Given the description of an element on the screen output the (x, y) to click on. 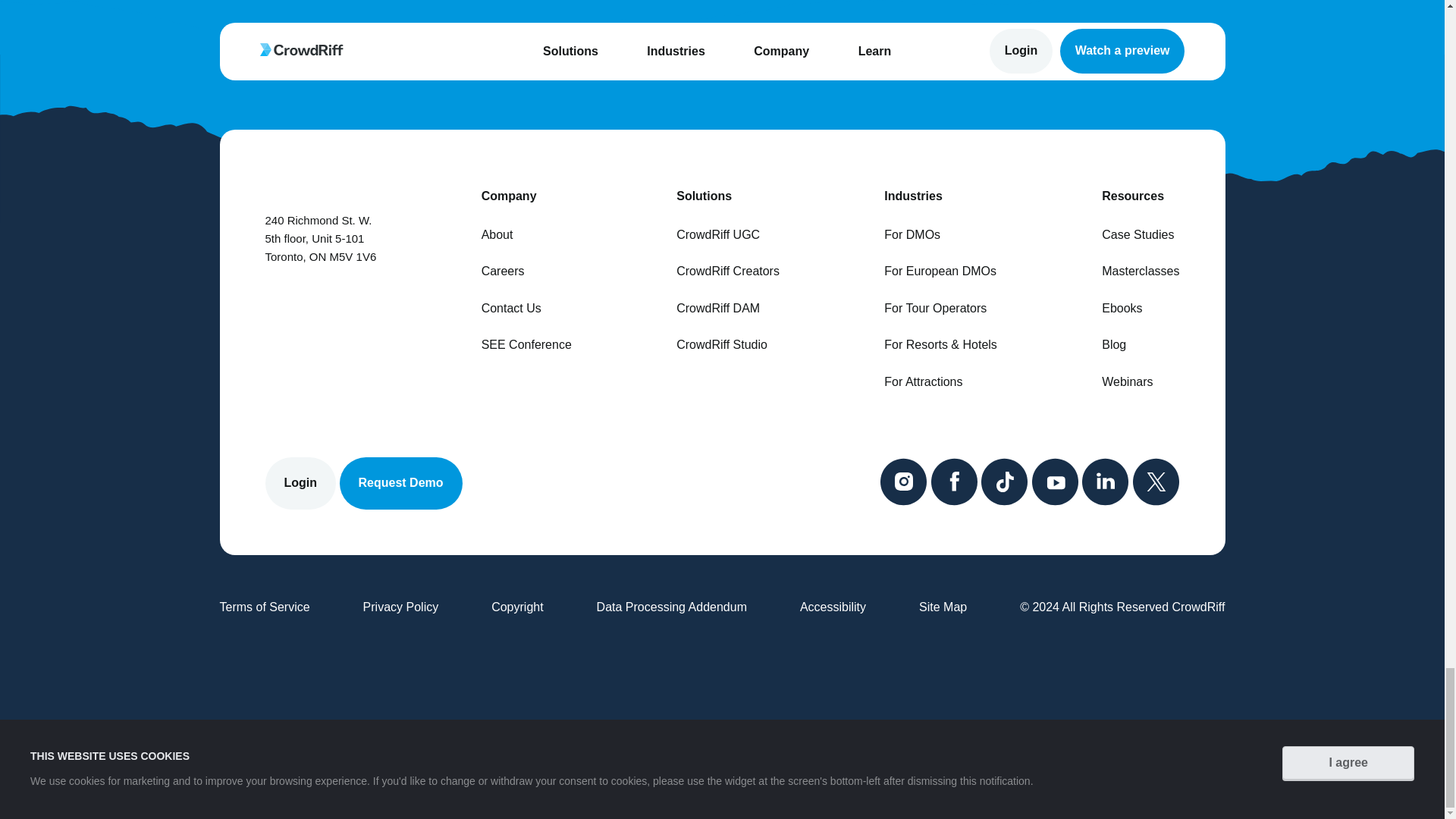
Careers (526, 271)
About (526, 234)
